Given the description of an element on the screen output the (x, y) to click on. 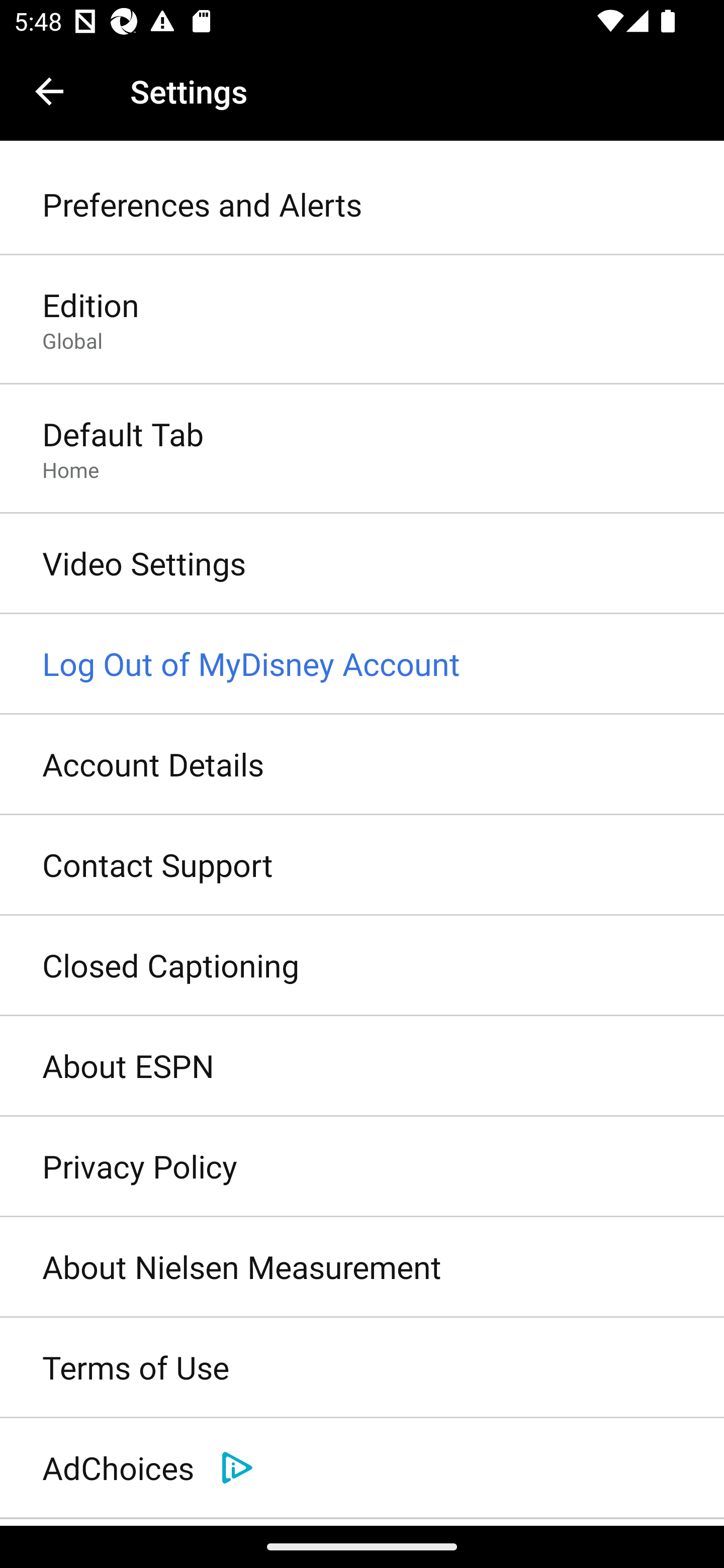
Navigate up (49, 91)
Preferences and Alerts (362, 205)
Edition Global (362, 320)
Default Tab Home (362, 449)
Video Settings (362, 564)
Log Out of MyDisney Account (362, 664)
Account Details (362, 765)
Contact Support (362, 865)
Closed Captioning (362, 965)
About ESPN (362, 1066)
Privacy Policy (362, 1167)
About Nielsen Measurement (362, 1267)
Terms of Use (362, 1368)
AdChoices (362, 1468)
